Given the description of an element on the screen output the (x, y) to click on. 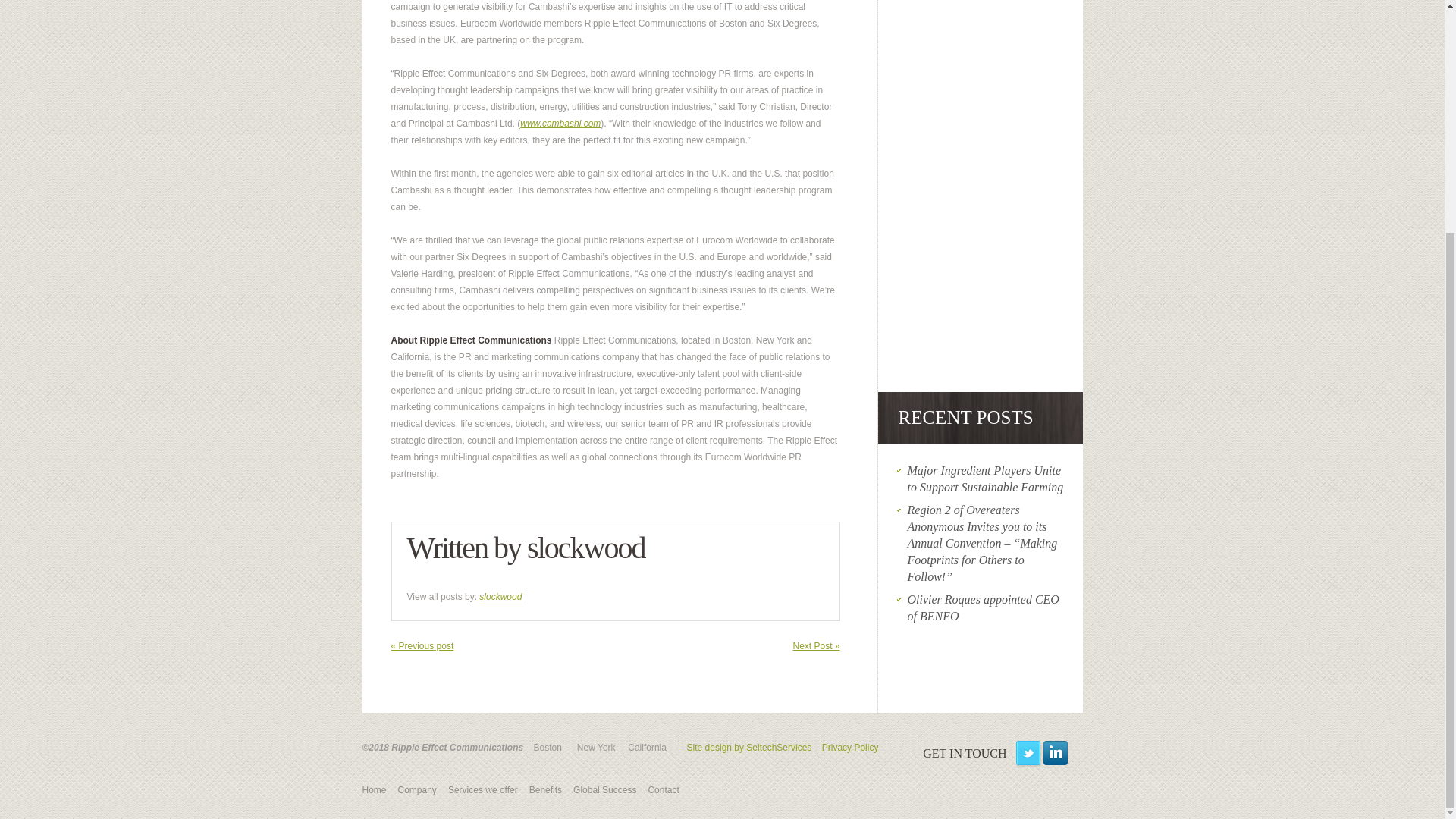
Home (374, 789)
Privacy Policy (850, 747)
Olivier Roques appointed CEO of BENEO (982, 607)
slockwood (500, 596)
slockwood (586, 547)
www.cambashi.com (559, 122)
Site design by SeltechServices (749, 747)
Posts by slockwood (500, 596)
Posts by slockwood (586, 547)
